Given the description of an element on the screen output the (x, y) to click on. 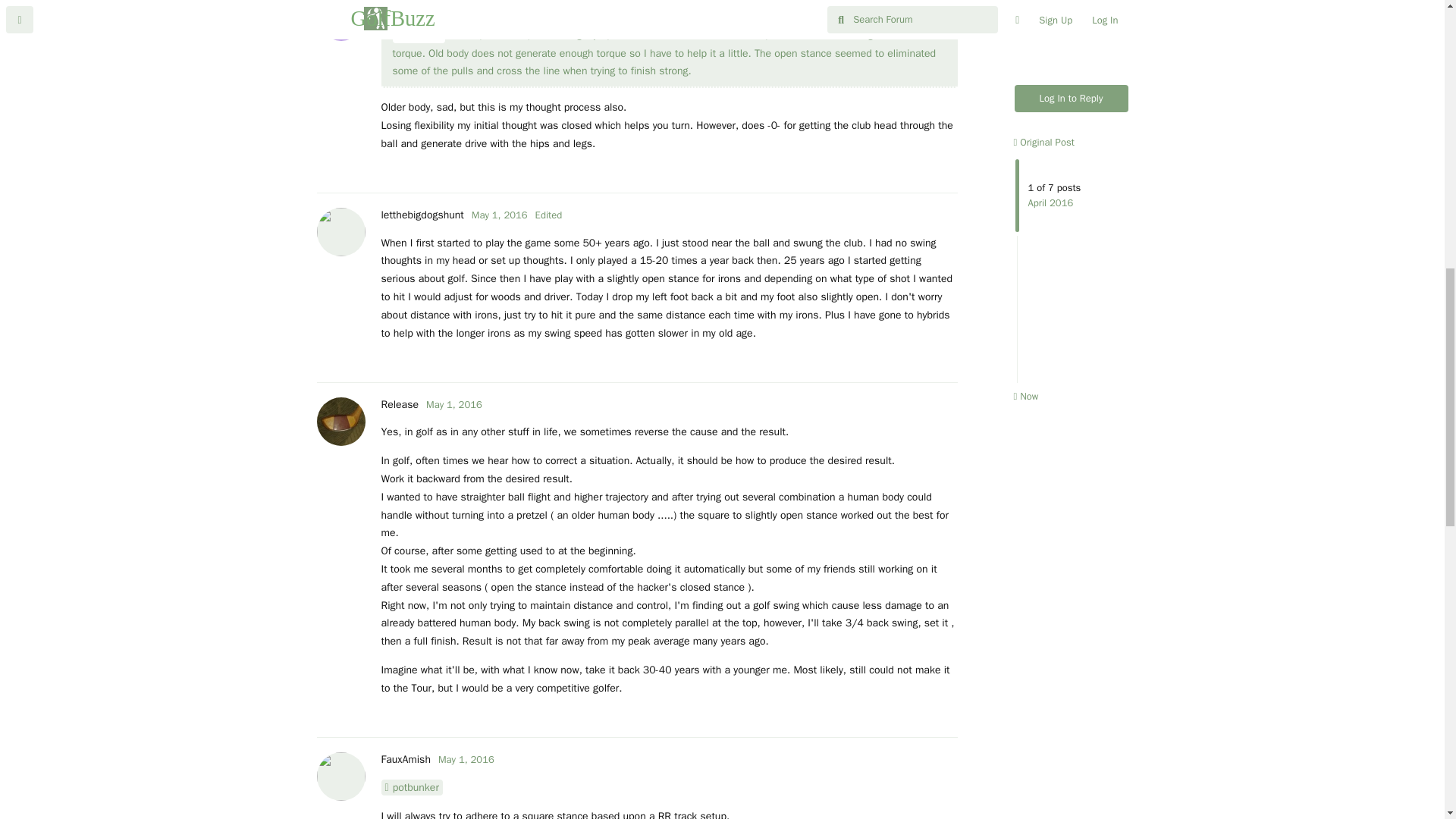
potbunker (411, 787)
Release (398, 404)
FauxAmish (404, 758)
May 1, 2016 (466, 758)
Apr 30, 2016 (464, 2)
Sunday, May 1, 2016 7:47 AM (466, 758)
Sunday, May 1, 2016 12:29 AM (499, 214)
letthebigdogshunt (421, 214)
May 1, 2016 (453, 404)
Release (419, 35)
Saturday, April 30, 2016 11:53 PM (464, 2)
May 1, 2016 (499, 214)
Sunday, May 1, 2016 12:49 AM (403, 2)
